Given the description of an element on the screen output the (x, y) to click on. 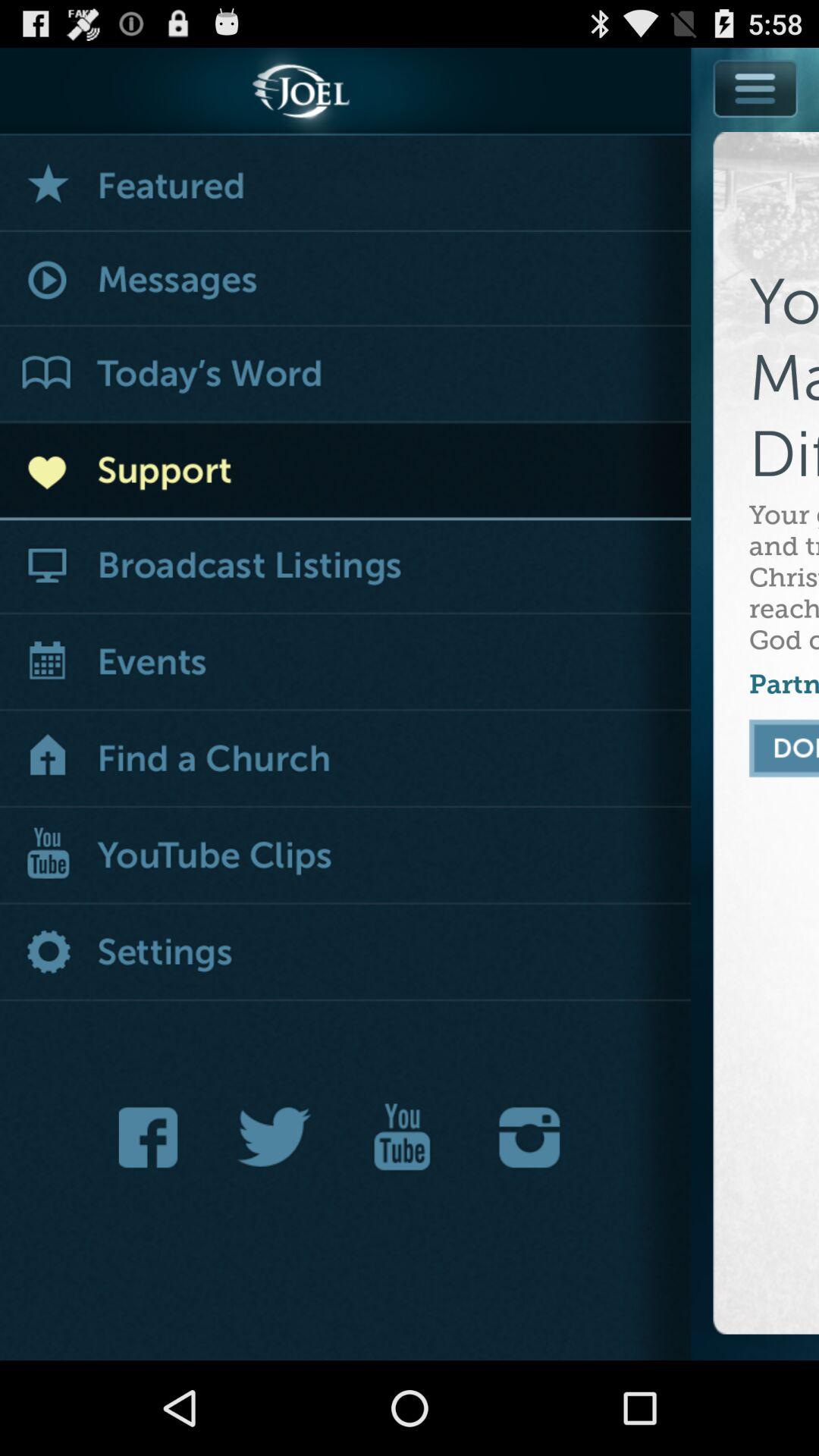
view featured items (345, 183)
